Given the description of an element on the screen output the (x, y) to click on. 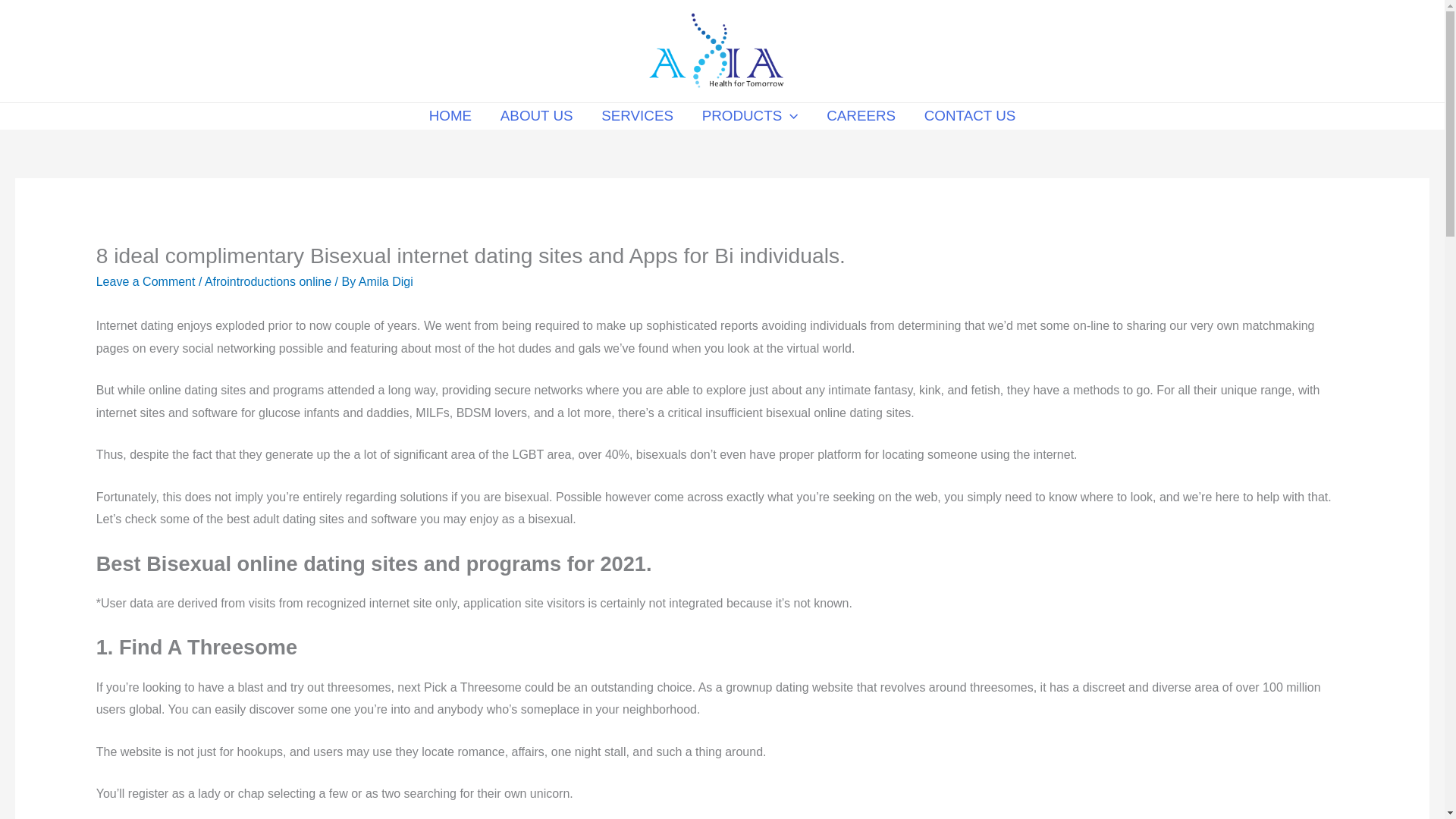
View all posts by Amila Digi (385, 281)
CONTACT US (969, 116)
SERVICES (636, 116)
CAREERS (861, 116)
HOME (450, 116)
Leave a Comment (145, 281)
Amila Digi (385, 281)
Afrointroductions online (268, 281)
ABOUT US (536, 116)
PRODUCTS (749, 116)
